Given the description of an element on the screen output the (x, y) to click on. 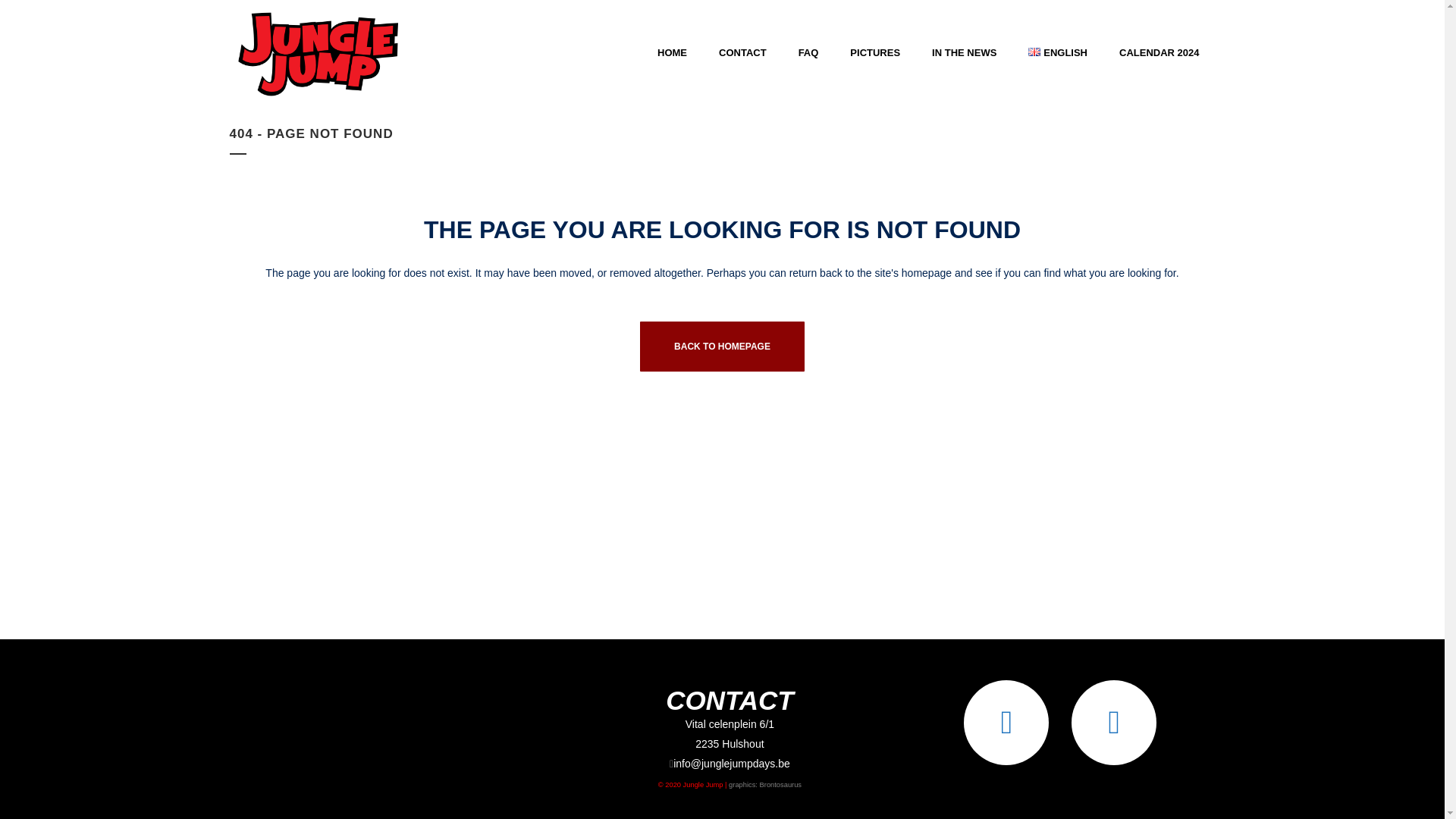
CALENDAR 2024 (1158, 53)
BACK TO HOMEPAGE (722, 346)
IN THE NEWS (963, 53)
